Given the description of an element on the screen output the (x, y) to click on. 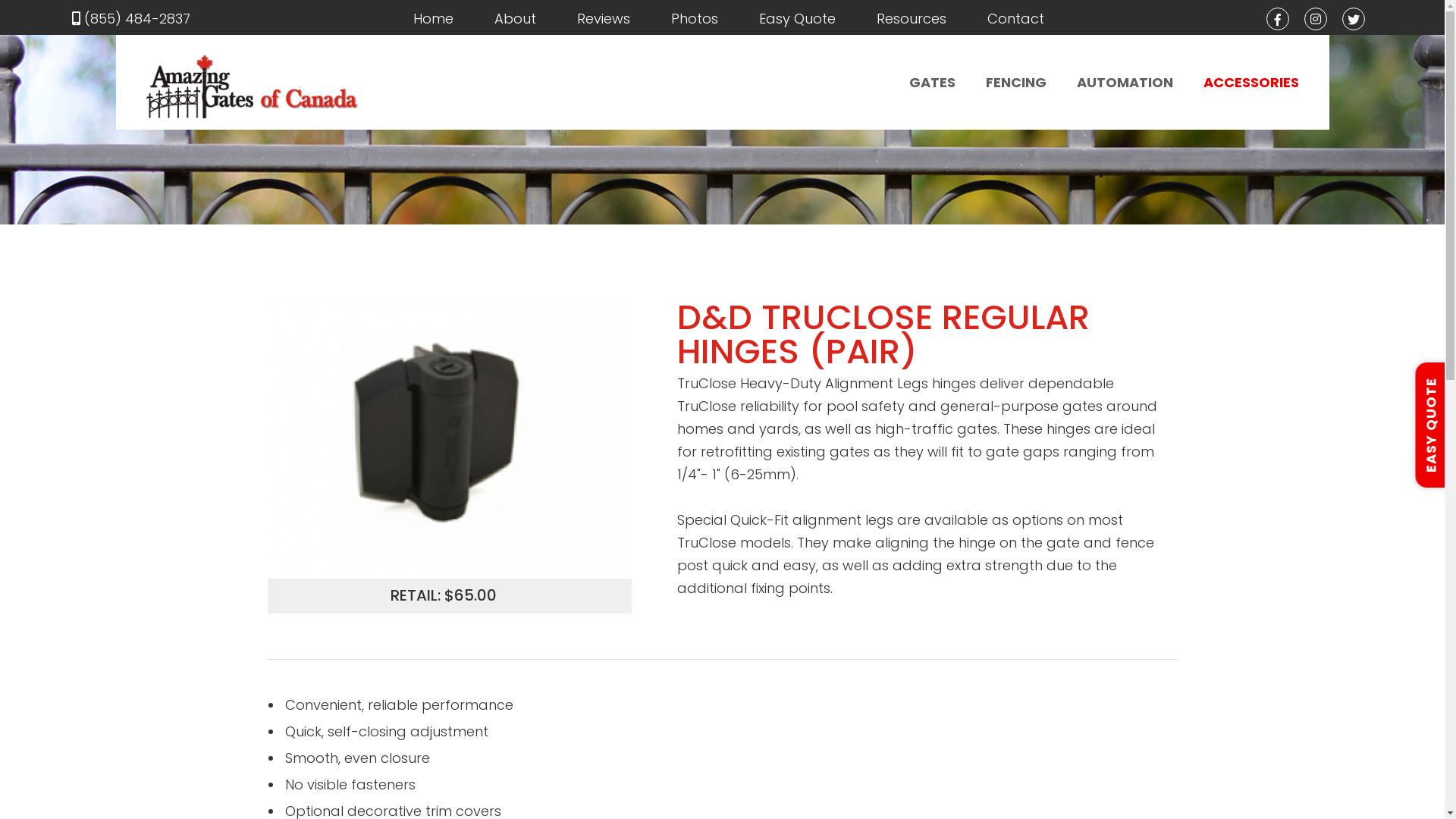
Photos Element type: text (693, 18)
AUTOMATION Element type: text (1124, 82)
ACCESSORIES Element type: text (1250, 82)
Resources Element type: text (911, 18)
Easy Quote Element type: text (796, 18)
FENCING Element type: text (1015, 82)
Contact Element type: text (1015, 18)
About Element type: text (515, 18)
GATES Element type: text (931, 82)
Reviews Element type: text (602, 18)
Home Element type: text (432, 18)
